Given the description of an element on the screen output the (x, y) to click on. 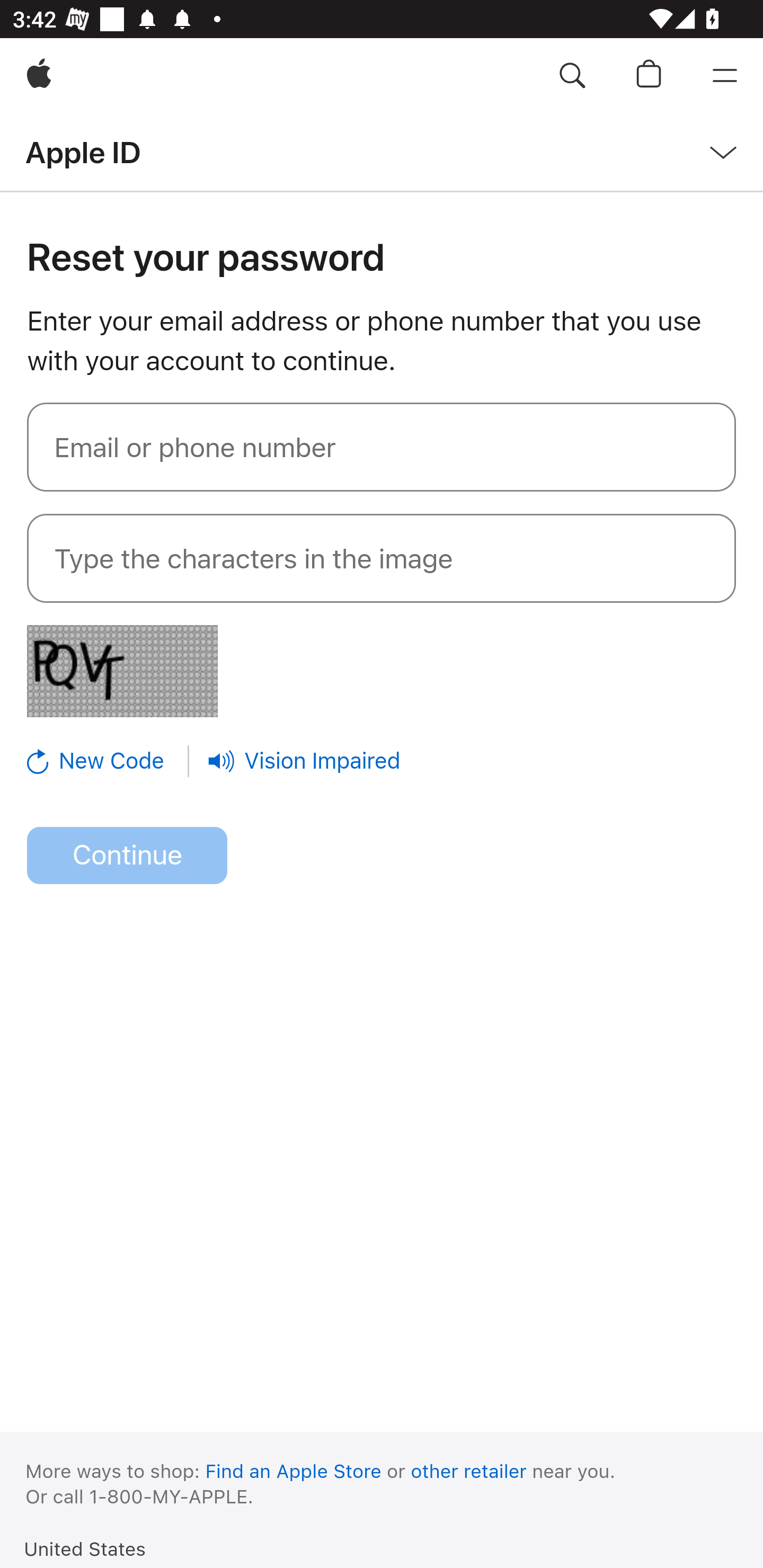
Apple (38, 75)
Search apple.com (572, 75)
Shopping Bag (648, 75)
Menu (724, 75)
Apple ID (83, 151)
 New Code (108, 760)
 Vision Impaired (304, 760)
Continue (126, 855)
Find an Apple Store (293, 1470)
other retailer (468, 1470)
United States (84, 1548)
